Given the description of an element on the screen output the (x, y) to click on. 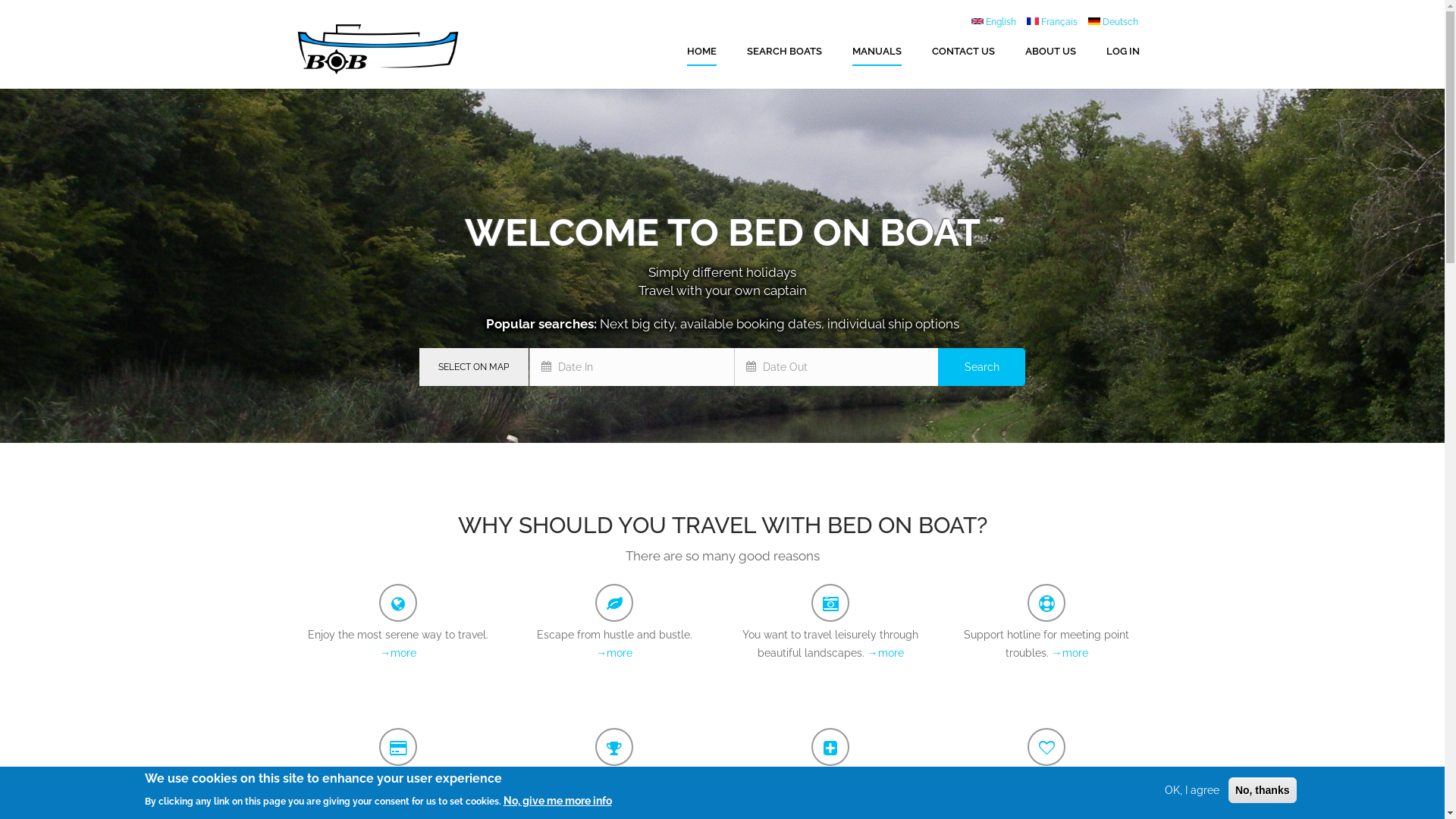
MANUALS Element type: text (876, 50)
English Element type: text (992, 21)
No, give me more info Element type: text (557, 799)
ABOUT US Element type: text (1050, 50)
Search Element type: text (981, 366)
HOME Element type: text (701, 50)
Deutsch Element type: hover (1093, 21)
CONTACT US Element type: text (962, 50)
Skip to main content Element type: text (0, 0)
Home Element type: hover (389, 46)
SEARCH BOATS Element type: text (783, 50)
Deutsch Element type: text (1112, 21)
LOG IN Element type: text (1122, 50)
OK, I agree Element type: text (1191, 790)
English Element type: hover (976, 21)
No, thanks Element type: text (1262, 790)
